Given the description of an element on the screen output the (x, y) to click on. 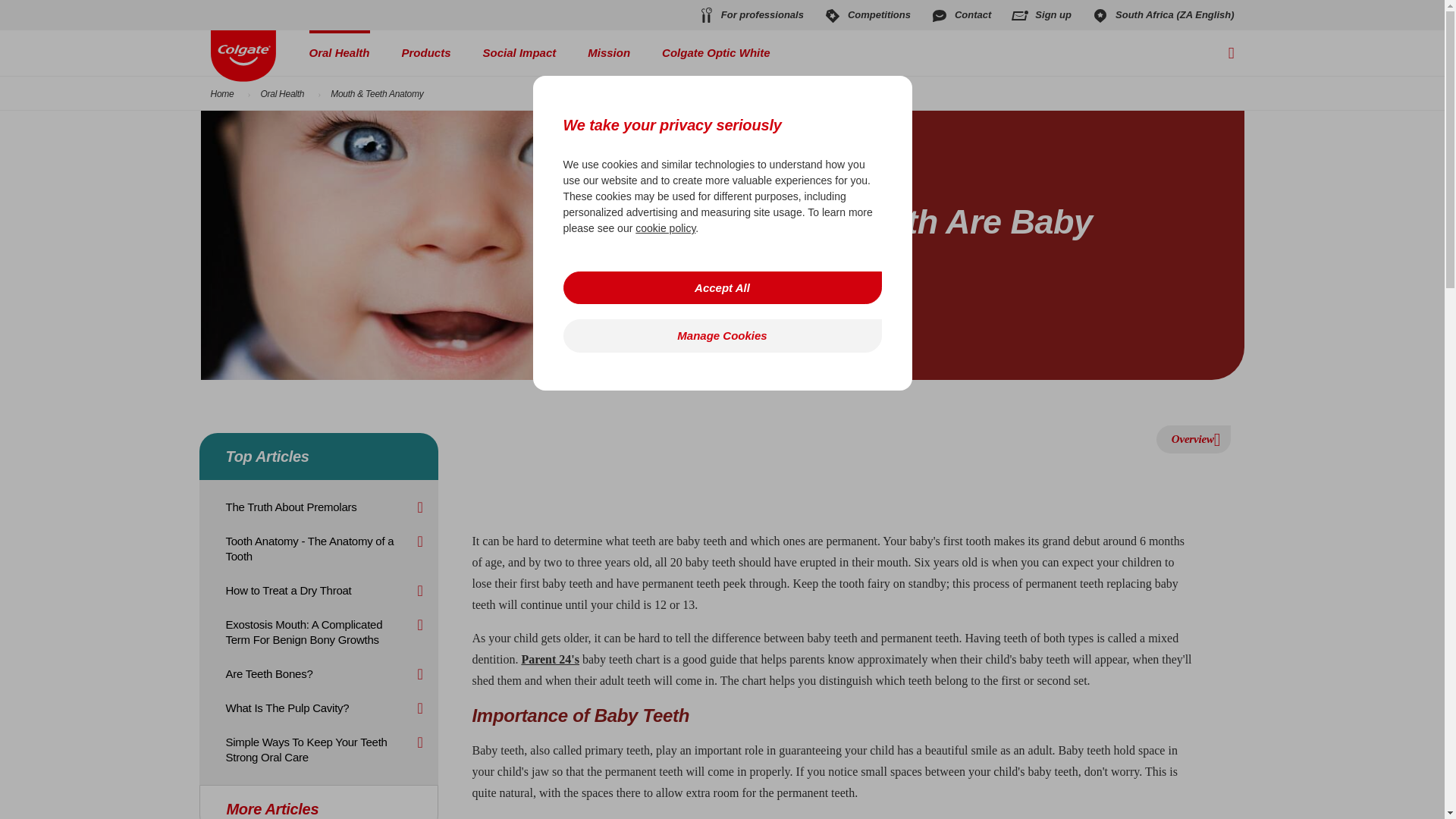
Social Impact (519, 52)
Colgate Optic White (716, 52)
Mission (609, 52)
Manage Cookies (721, 335)
home (243, 55)
Oral Health (338, 52)
cookie policy (664, 227)
Products (426, 52)
Sign up (1040, 14)
Baby teeth (439, 245)
